Given the description of an element on the screen output the (x, y) to click on. 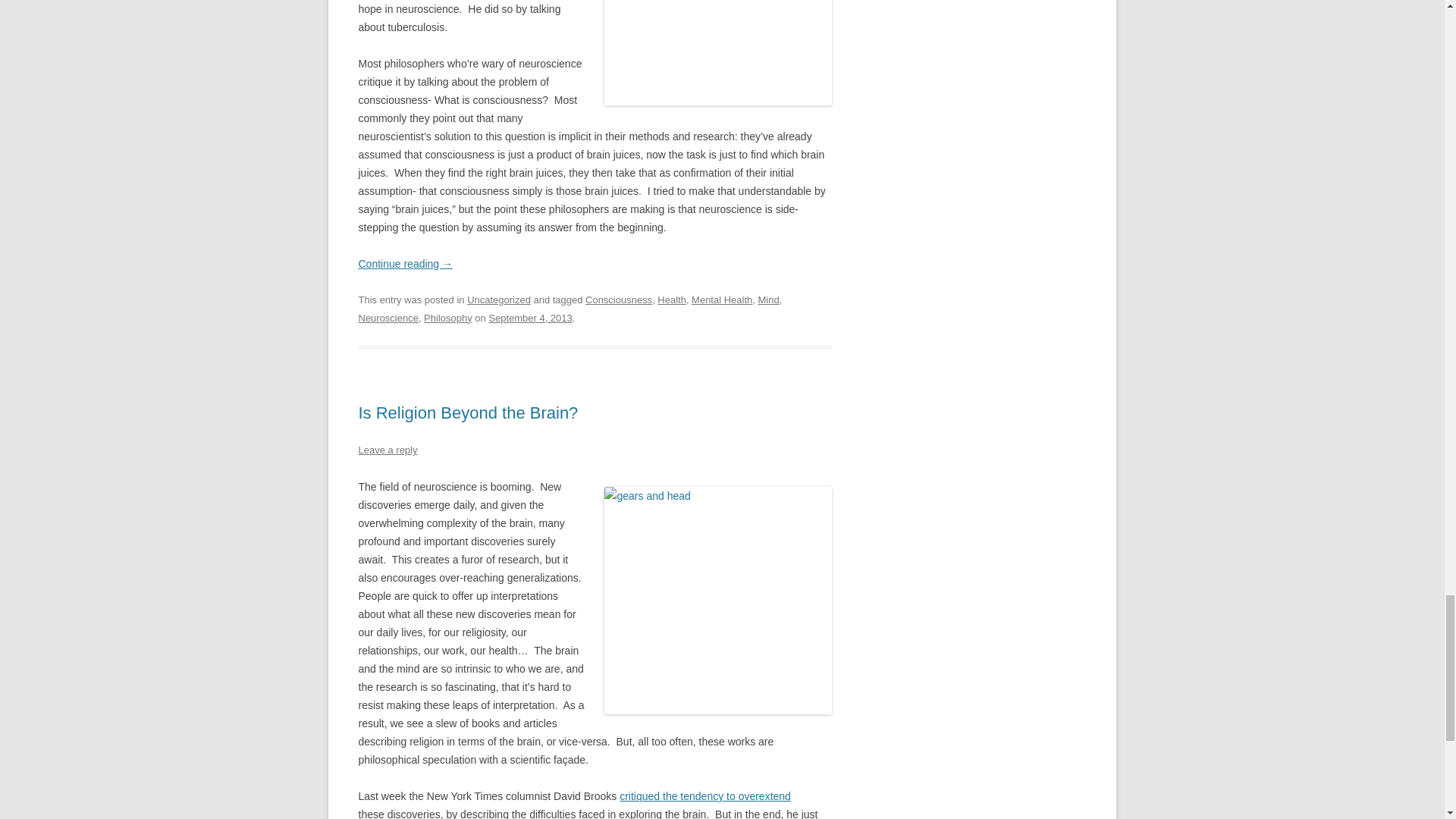
9:06 am (529, 317)
